Given the description of an element on the screen output the (x, y) to click on. 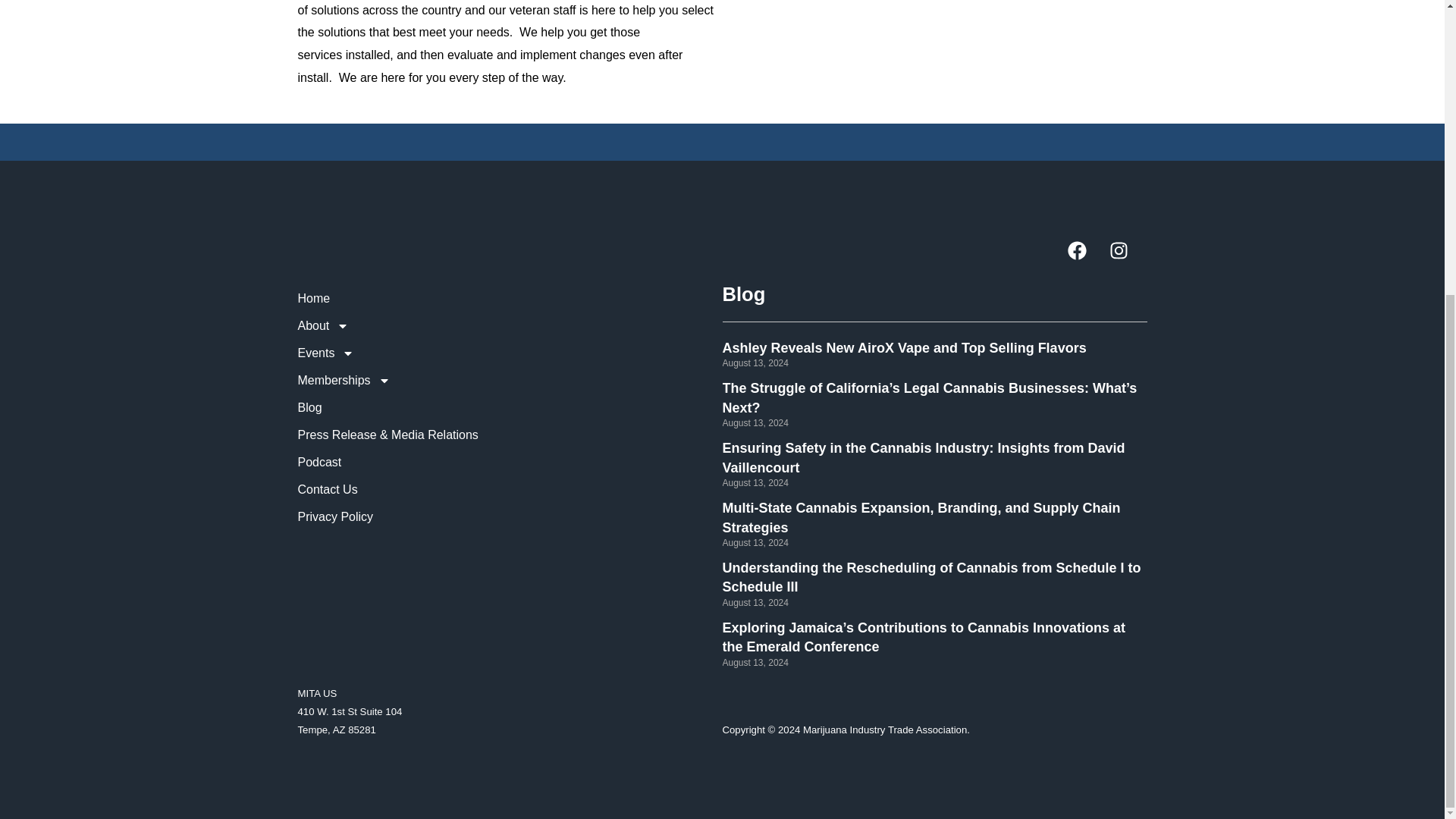
Instagram (1127, 259)
Home (509, 298)
Facebook (1086, 259)
Podcast (509, 461)
Contact Us (509, 489)
Blog (509, 407)
Memberships (509, 379)
Events (509, 352)
About (509, 325)
